Given the description of an element on the screen output the (x, y) to click on. 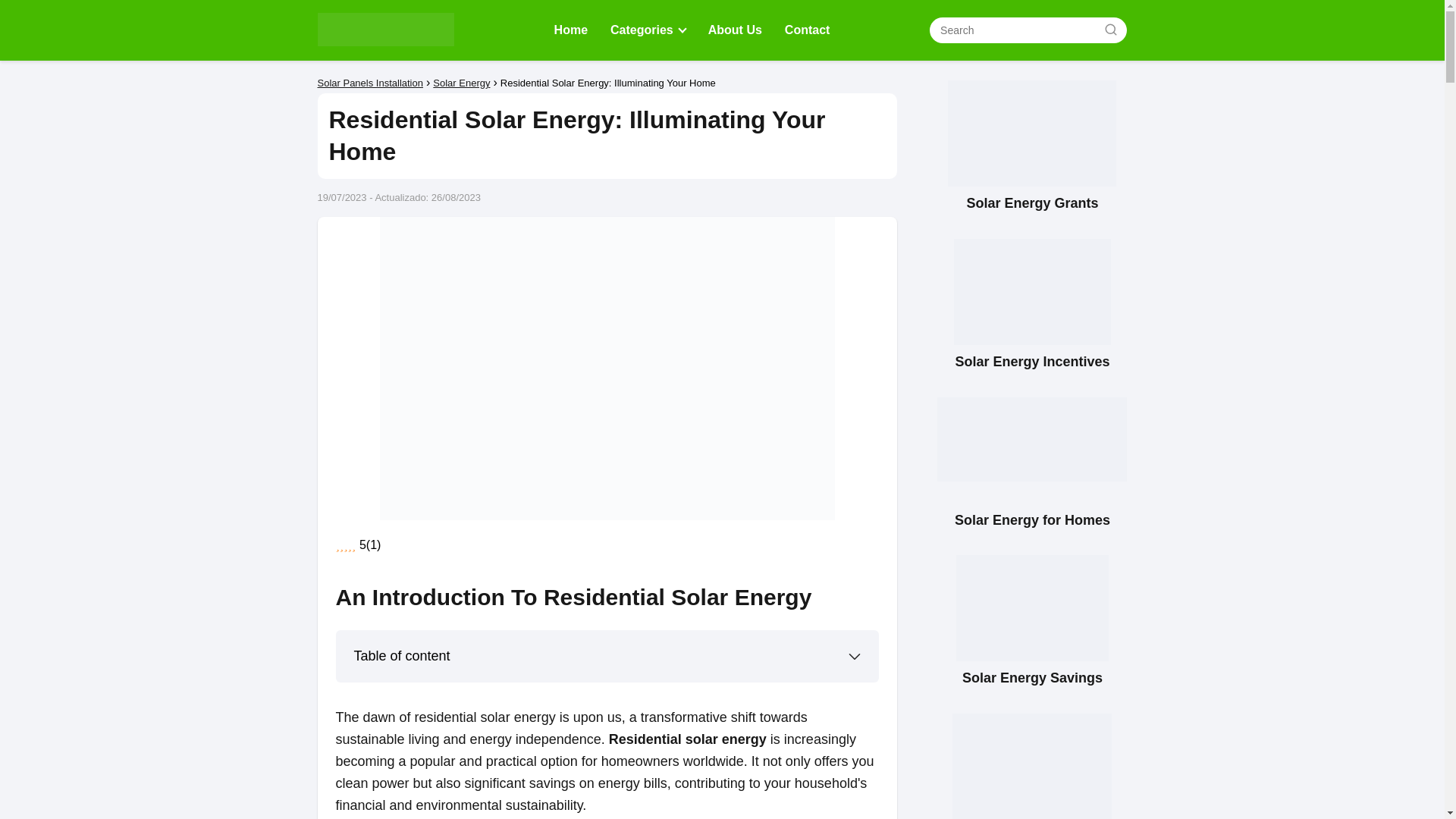
Home (571, 29)
Categories (644, 29)
Solar Energy (460, 82)
Contact (806, 29)
About Us (734, 29)
Solar Panels Installation (369, 82)
